Given the description of an element on the screen output the (x, y) to click on. 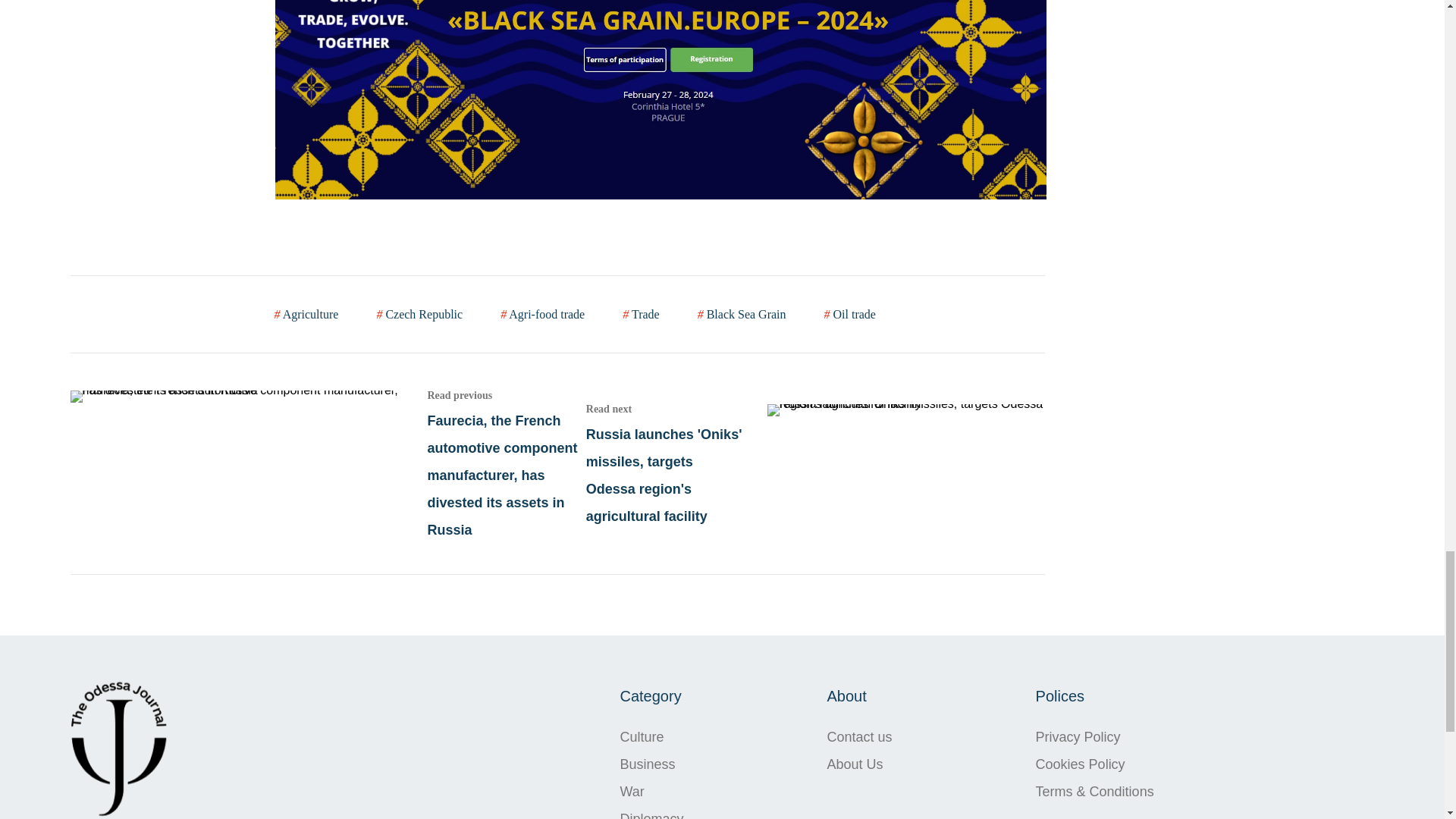
Black Sea Grain (741, 314)
Trade (641, 314)
Agri-food trade (542, 314)
Czech Republic (419, 314)
Business (652, 764)
Culture (652, 737)
Agriculture (307, 314)
